Given the description of an element on the screen output the (x, y) to click on. 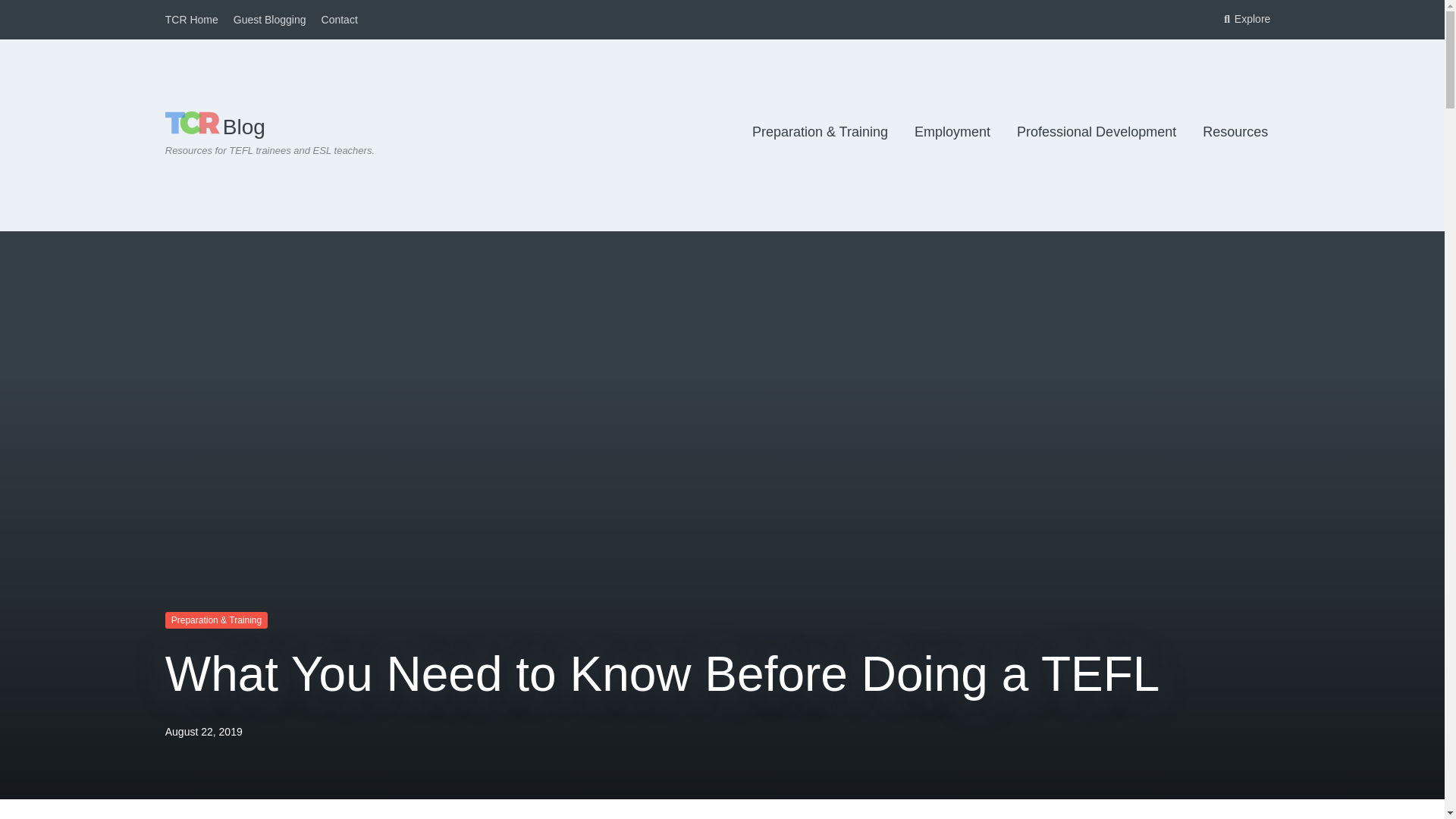
Contact (339, 19)
Guest Blogging (268, 19)
TCR Home (191, 19)
